Given the description of an element on the screen output the (x, y) to click on. 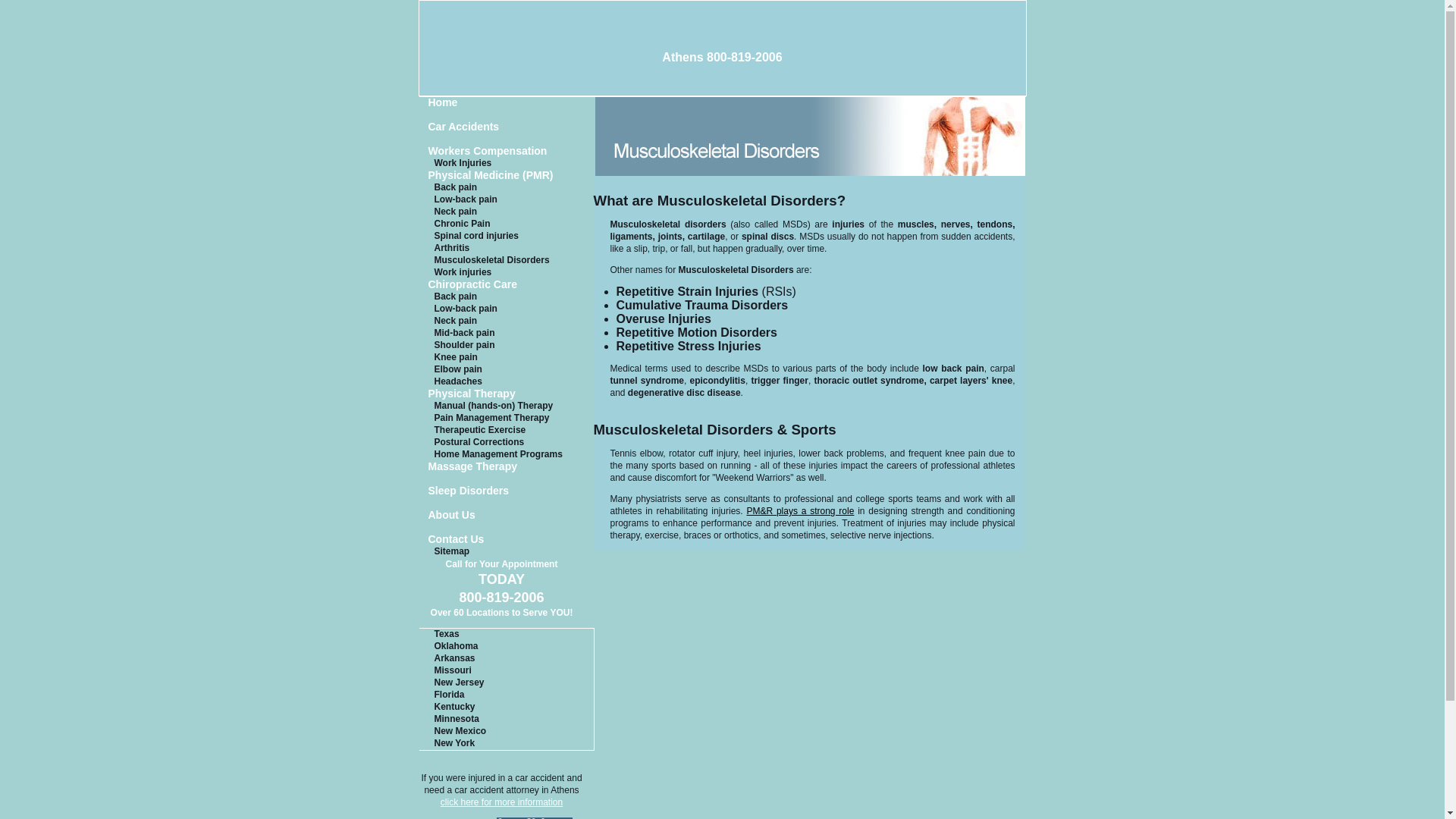
Sleep Disorders (506, 491)
Elbow pain (506, 369)
Arthritis (506, 248)
Shoulder pain (506, 345)
Neck pain (506, 212)
Mid-back pain (506, 333)
Back pain (506, 297)
Neck pain (506, 321)
Texas (505, 634)
